Given the description of an element on the screen output the (x, y) to click on. 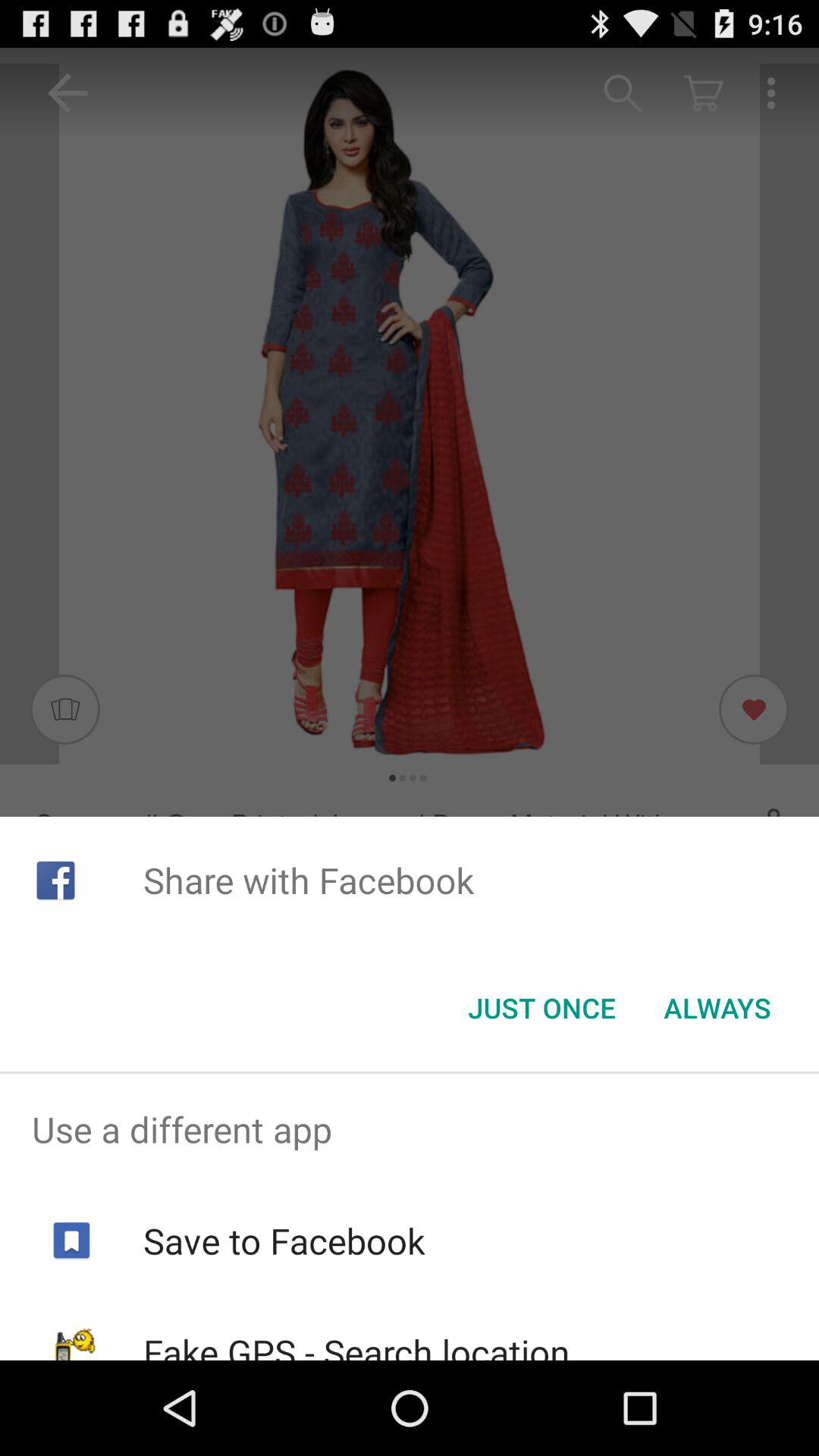
turn on the just once (541, 1007)
